Given the description of an element on the screen output the (x, y) to click on. 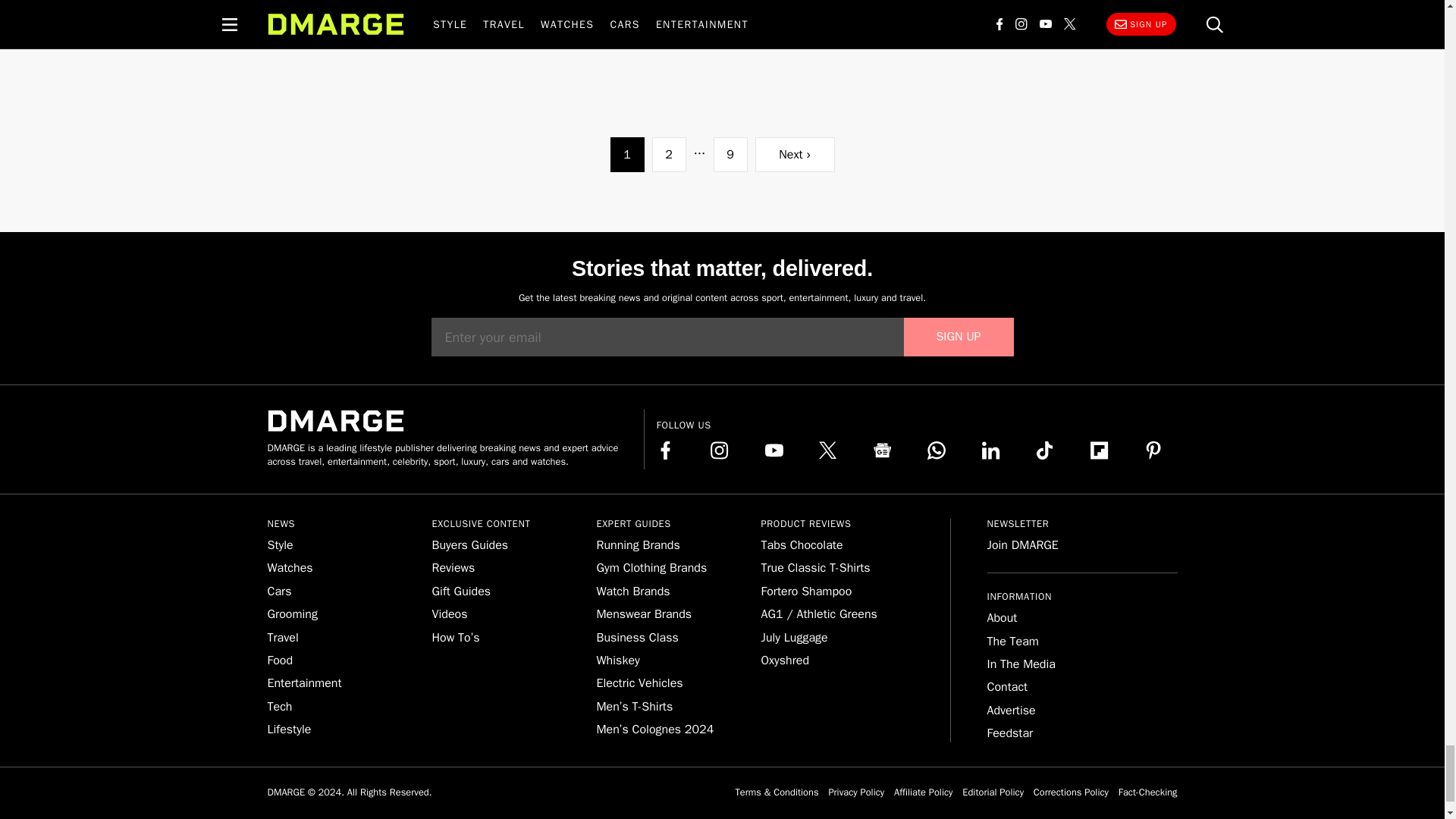
Visit us on Pinterest (1152, 450)
Visit us on TickTok (1044, 450)
Visit us on Instagram (719, 450)
Visit us on Flipboard (1099, 450)
Visit us on Twitter (827, 450)
Visit us on Google News (882, 450)
Visit us on WhatsApp (935, 450)
Visit us on LinkedIn (990, 450)
Visit us on Facebook (665, 450)
Visit us on YouTube (774, 450)
